Given the description of an element on the screen output the (x, y) to click on. 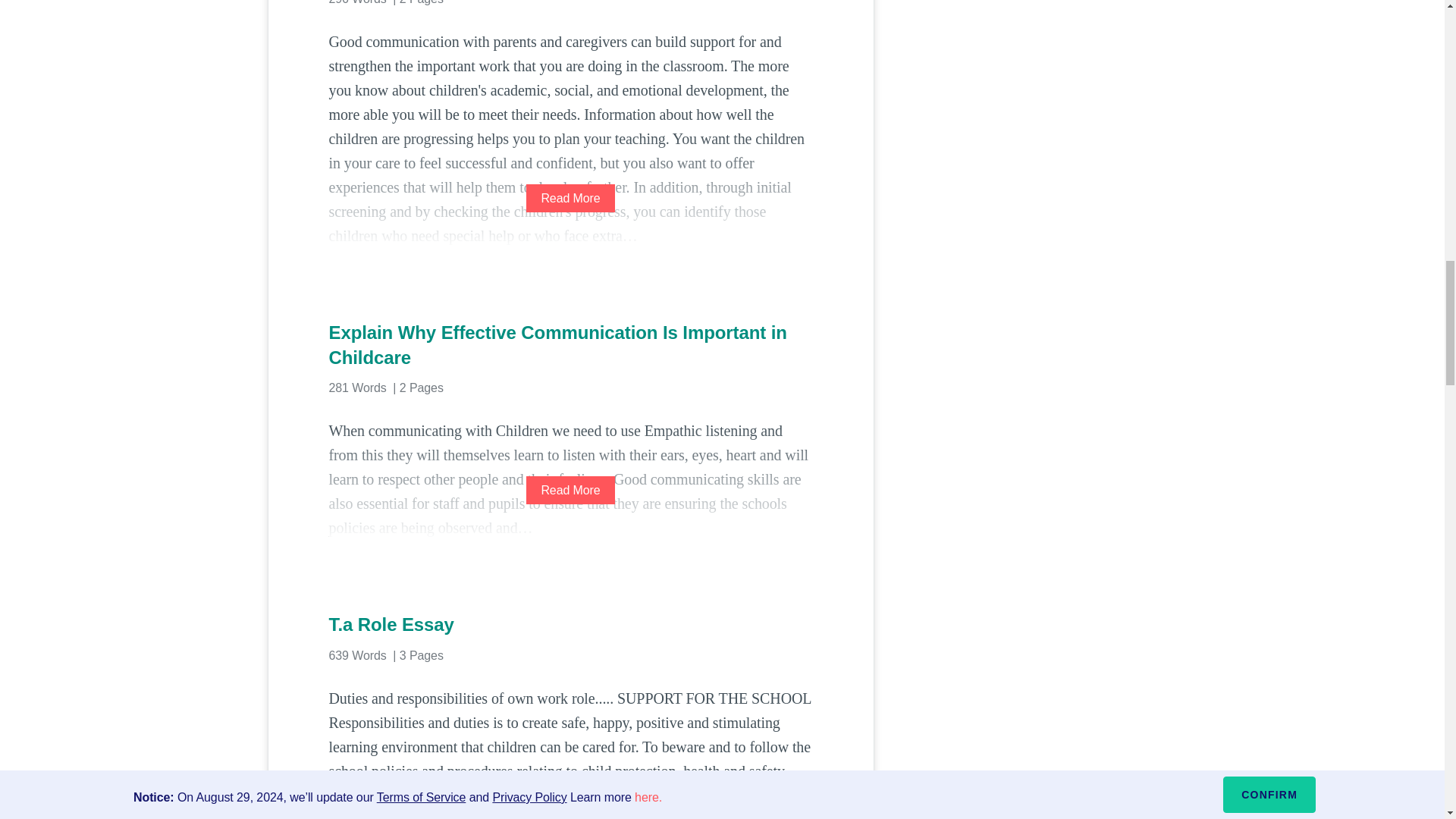
T.a Role Essay (570, 624)
Read More (569, 489)
Read More (569, 198)
